Given the description of an element on the screen output the (x, y) to click on. 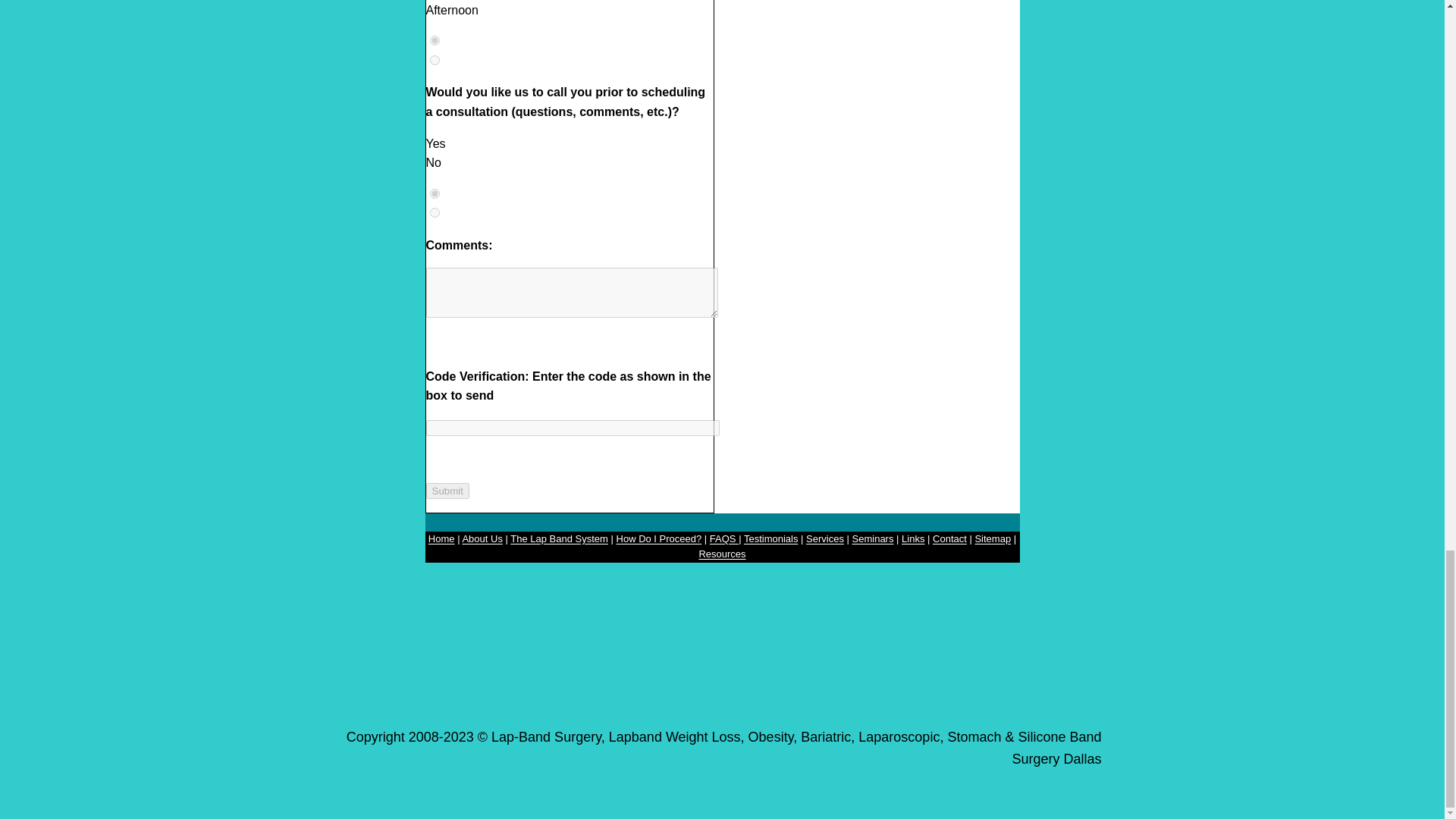
How Do I Proceed? (658, 538)
Resources (721, 553)
Seminars (872, 538)
Submit (447, 490)
morning (434, 40)
Sitemap (992, 538)
Links (912, 538)
Services (825, 538)
Testimonials (770, 538)
Home (441, 538)
no (434, 212)
The Lap Band System (559, 538)
yes (434, 194)
FAQS (724, 538)
afternoon (434, 60)
